Given the description of an element on the screen output the (x, y) to click on. 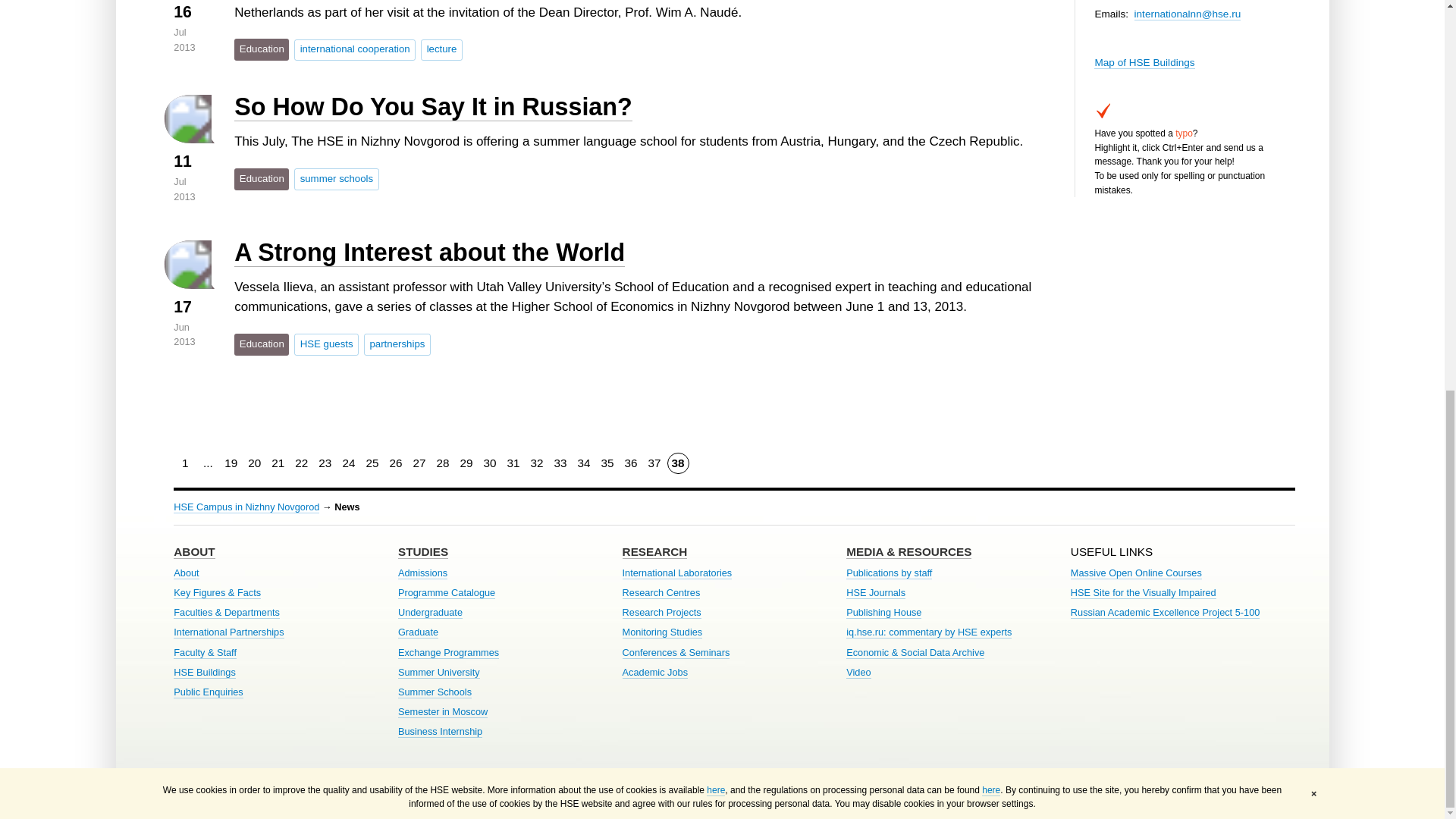
lecture (441, 49)
here (715, 47)
international cooperation (354, 49)
HSE guests (326, 343)
summer schools (336, 178)
Map of HSE Buildings (1143, 62)
here (990, 47)
partnerships (397, 343)
